Given the description of an element on the screen output the (x, y) to click on. 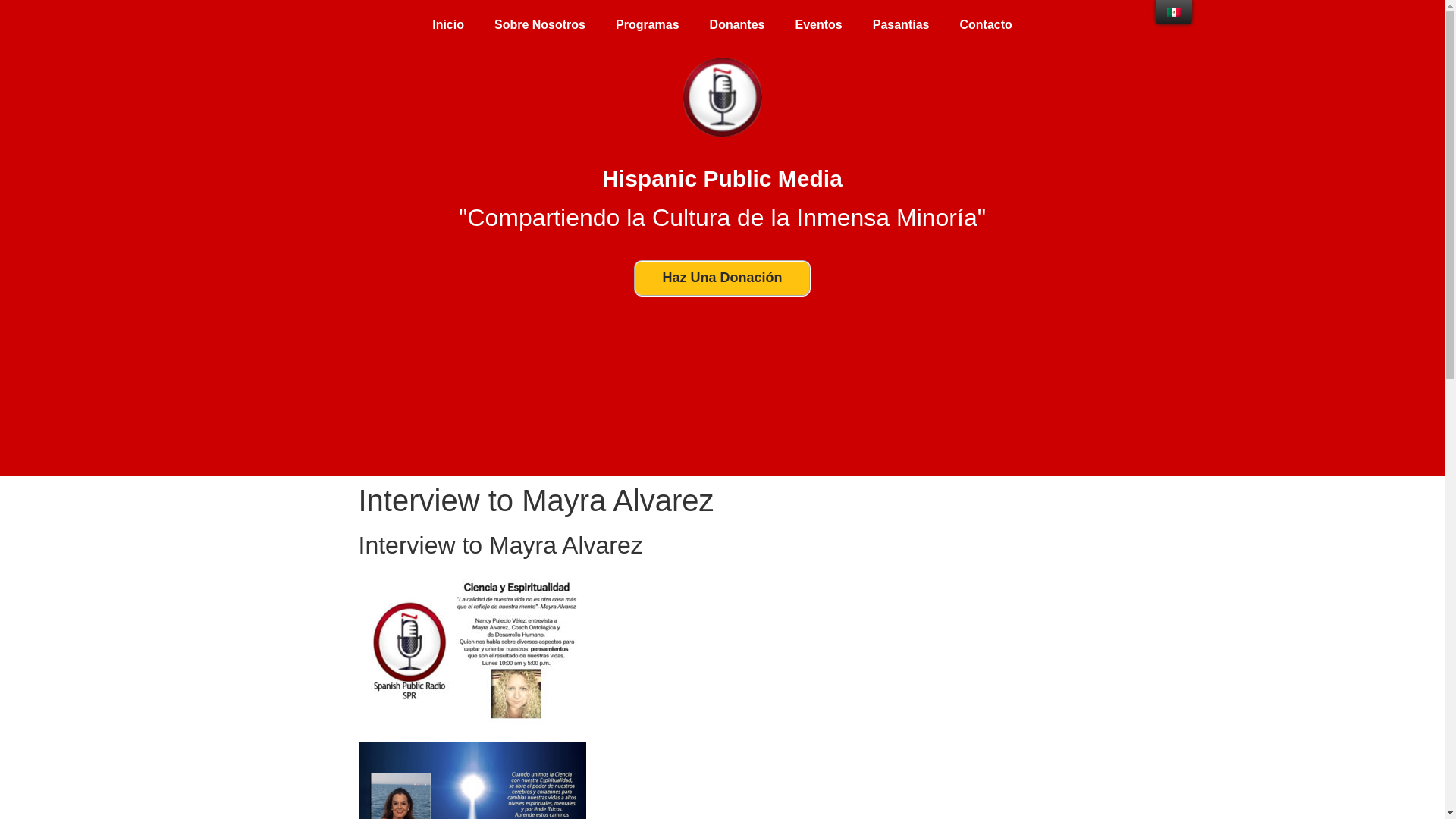
Donantes (737, 24)
Programas (646, 24)
Spanish (1173, 11)
Inicio (447, 24)
Sobre Nosotros (539, 24)
Flash Player (722, 365)
Contacto (984, 24)
Eventos (817, 24)
